Given the description of an element on the screen output the (x, y) to click on. 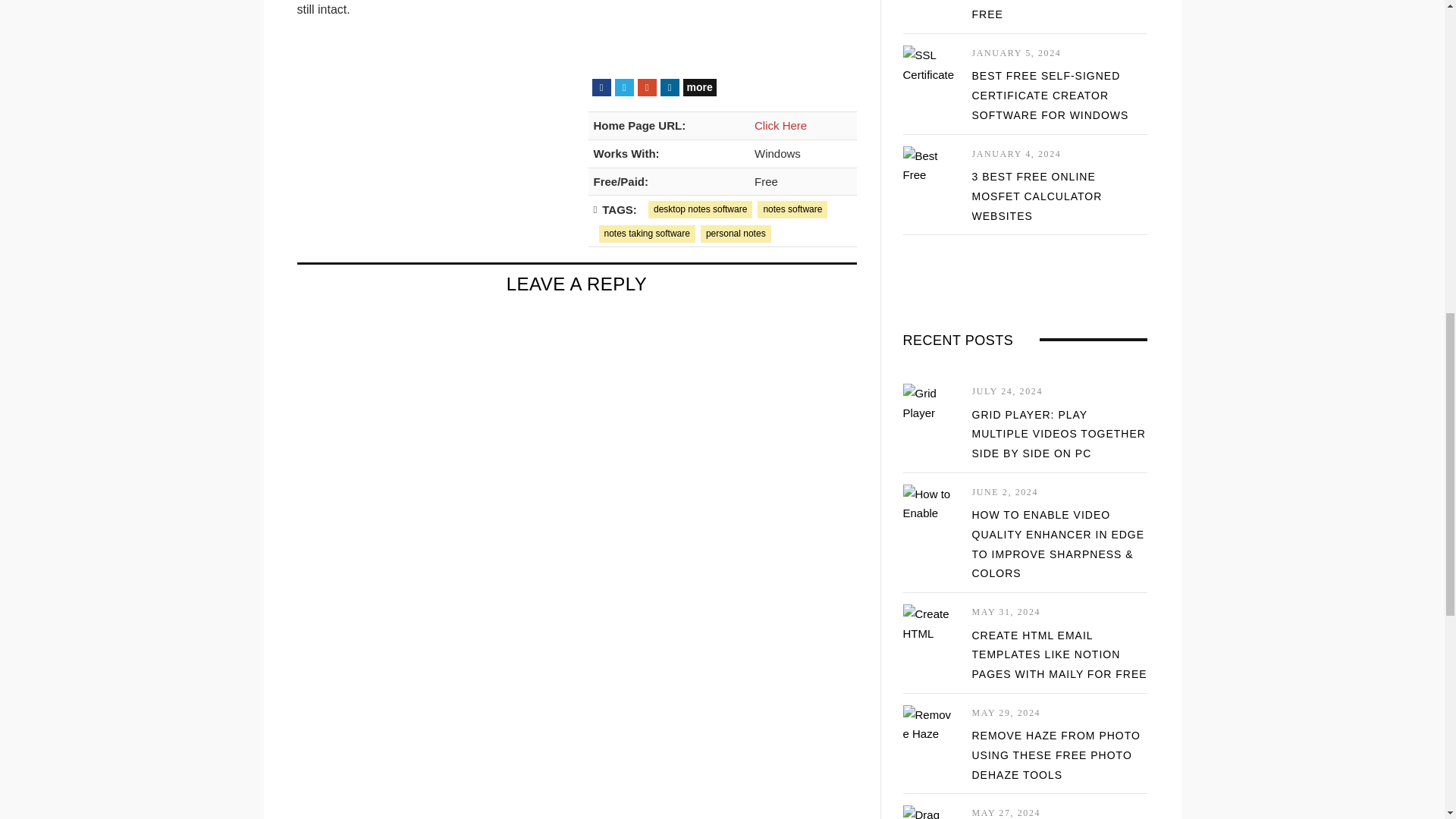
Share on Facebook (600, 87)
Tweet It (623, 87)
Share on LinkedIn (668, 87)
Facebook (600, 87)
Twitter (623, 87)
